Given the description of an element on the screen output the (x, y) to click on. 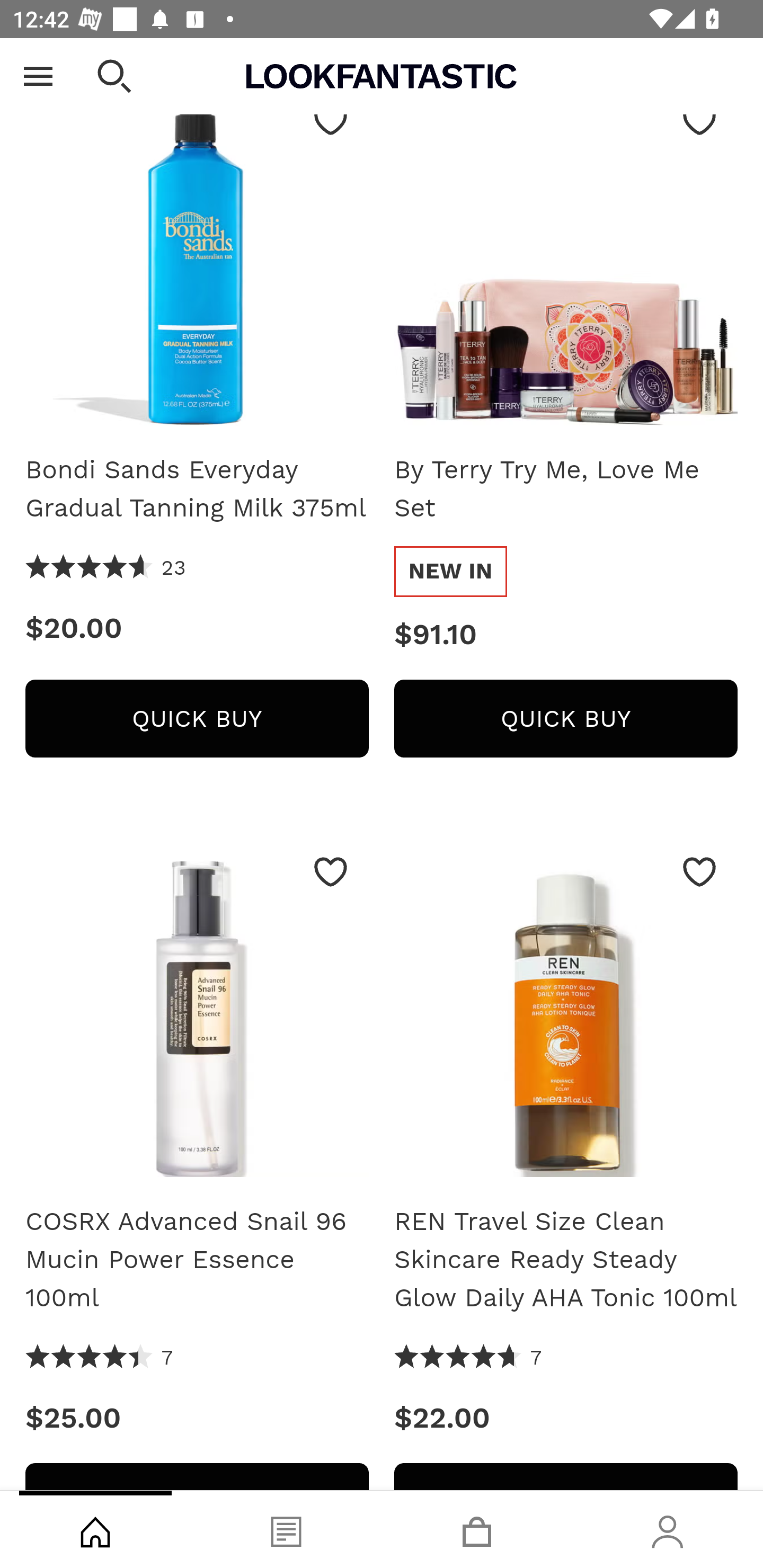
Bondi Sands Everyday Gradual Tanning Milk 375ml (196, 261)
By Terry Try Me, Love Me Set (565, 261)
Bondi Sands Everyday Gradual Tanning Milk 375ml (196, 490)
By Terry Try Me, Love Me Set (565, 490)
NEW IN, read more (450, 572)
4.65 Stars 23 Reviews (106, 569)
Price: $20.00 (196, 629)
Price: $91.10 (565, 636)
QUICK BUY BY TERRY TRY ME, LOVE ME SET (565, 719)
COSRX Advanced Snail 96 Mucin Power Essence 100ml (196, 1012)
Save to Wishlist (330, 873)
Save to Wishlist (698, 873)
COSRX Advanced Snail 96 Mucin Power Essence 100ml (196, 1260)
4.43 Stars 7 Reviews (99, 1359)
4.71 Stars 7 Reviews (468, 1359)
Price: $25.00 (196, 1419)
Price: $22.00 (565, 1419)
Shop, tab, 1 of 4 (95, 1529)
Blog, tab, 2 of 4 (285, 1529)
Basket, tab, 3 of 4 (476, 1529)
Account, tab, 4 of 4 (667, 1529)
